Given the description of an element on the screen output the (x, y) to click on. 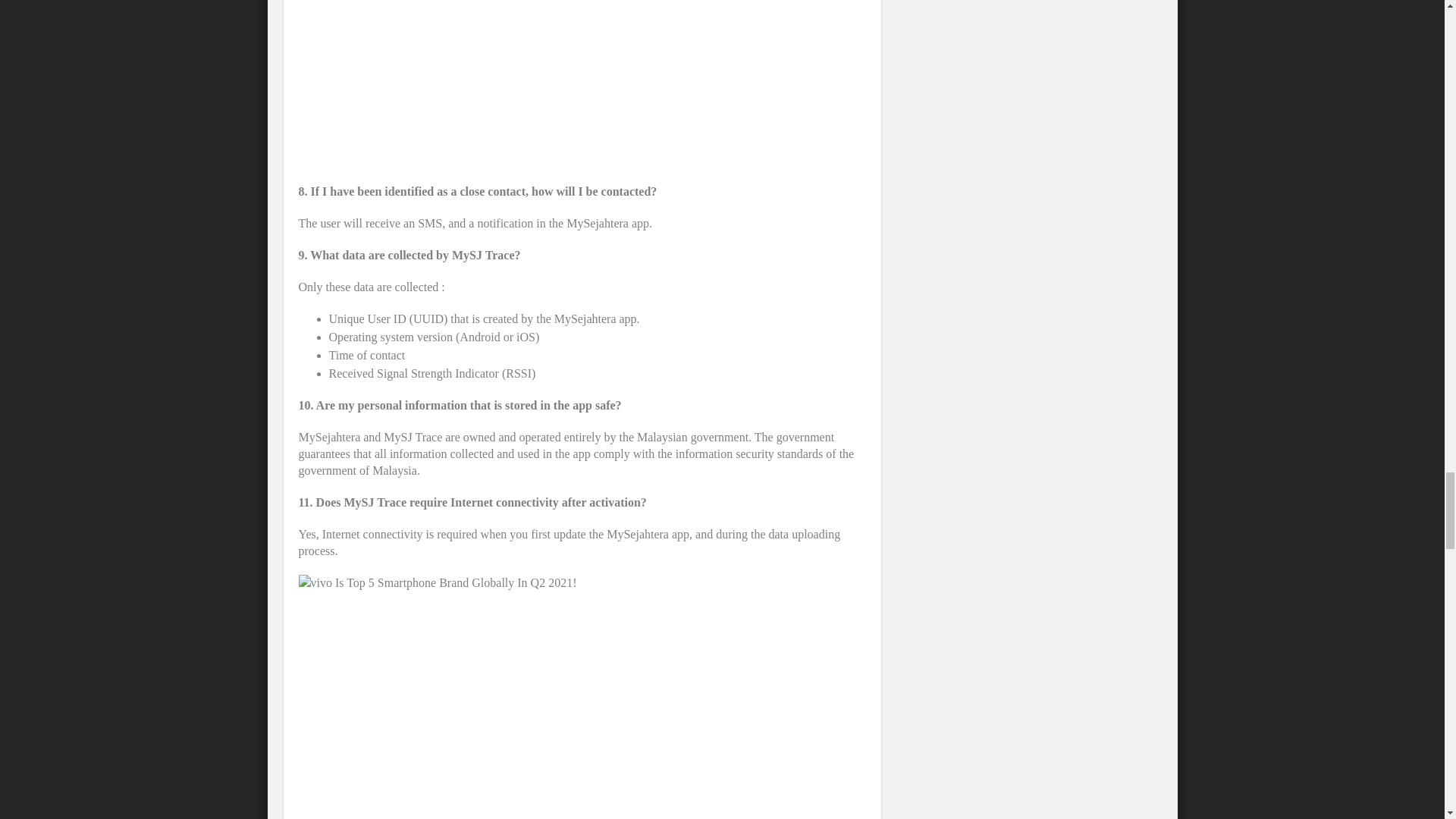
Page 5 (582, 84)
